Given the description of an element on the screen output the (x, y) to click on. 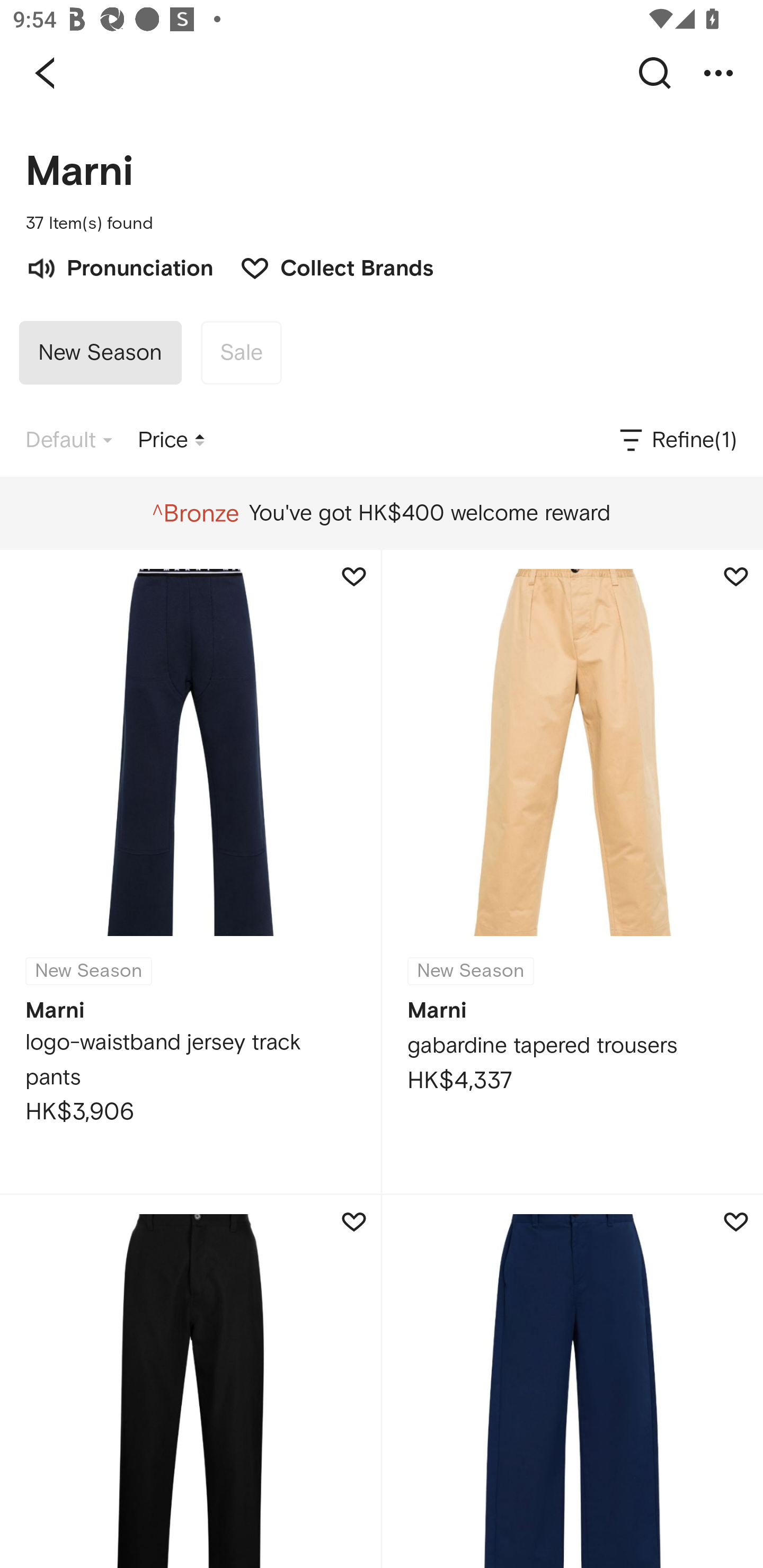
Pronunciation (119, 266)
Collect Brands (327, 266)
New Season (100, 352)
Sale (240, 352)
Default (68, 440)
Price (171, 440)
Refine(1) (677, 440)
You've got HK$400 welcome reward (381, 513)
